Given the description of an element on the screen output the (x, y) to click on. 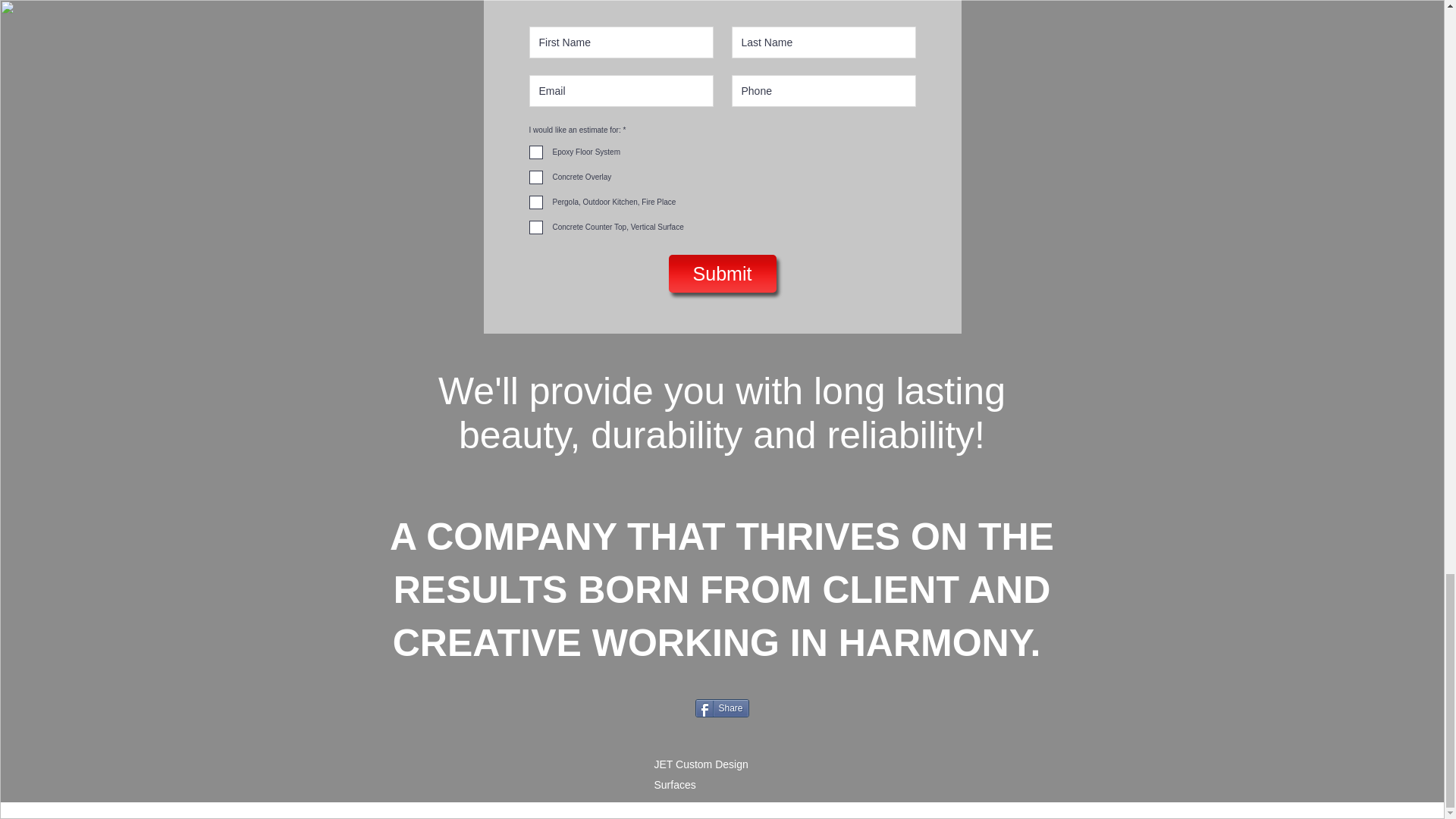
Submit (722, 273)
Share (721, 708)
Share (721, 708)
